Given the description of an element on the screen output the (x, y) to click on. 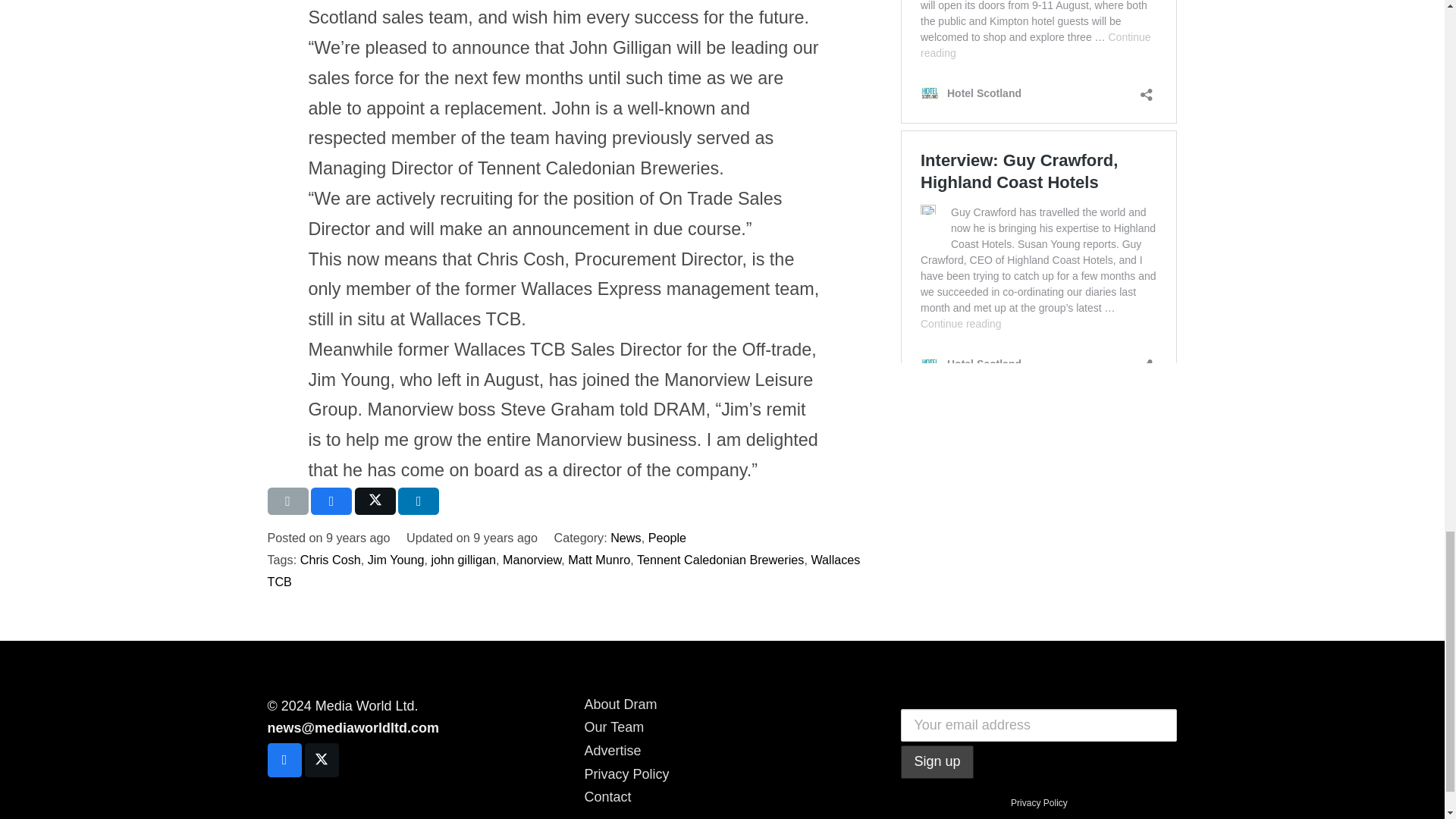
Wallaces TCB (563, 570)
Chris Cosh (330, 559)
People (666, 537)
Share this (418, 501)
Twitter (321, 759)
News (625, 537)
Manorview (531, 559)
Share this (331, 501)
john gilligan (463, 559)
Matt Munro (598, 559)
Sign up (936, 761)
Tennent Caledonian Breweries (720, 559)
Email this (286, 501)
Tweet this (375, 501)
Jim Young (396, 559)
